Given the description of an element on the screen output the (x, y) to click on. 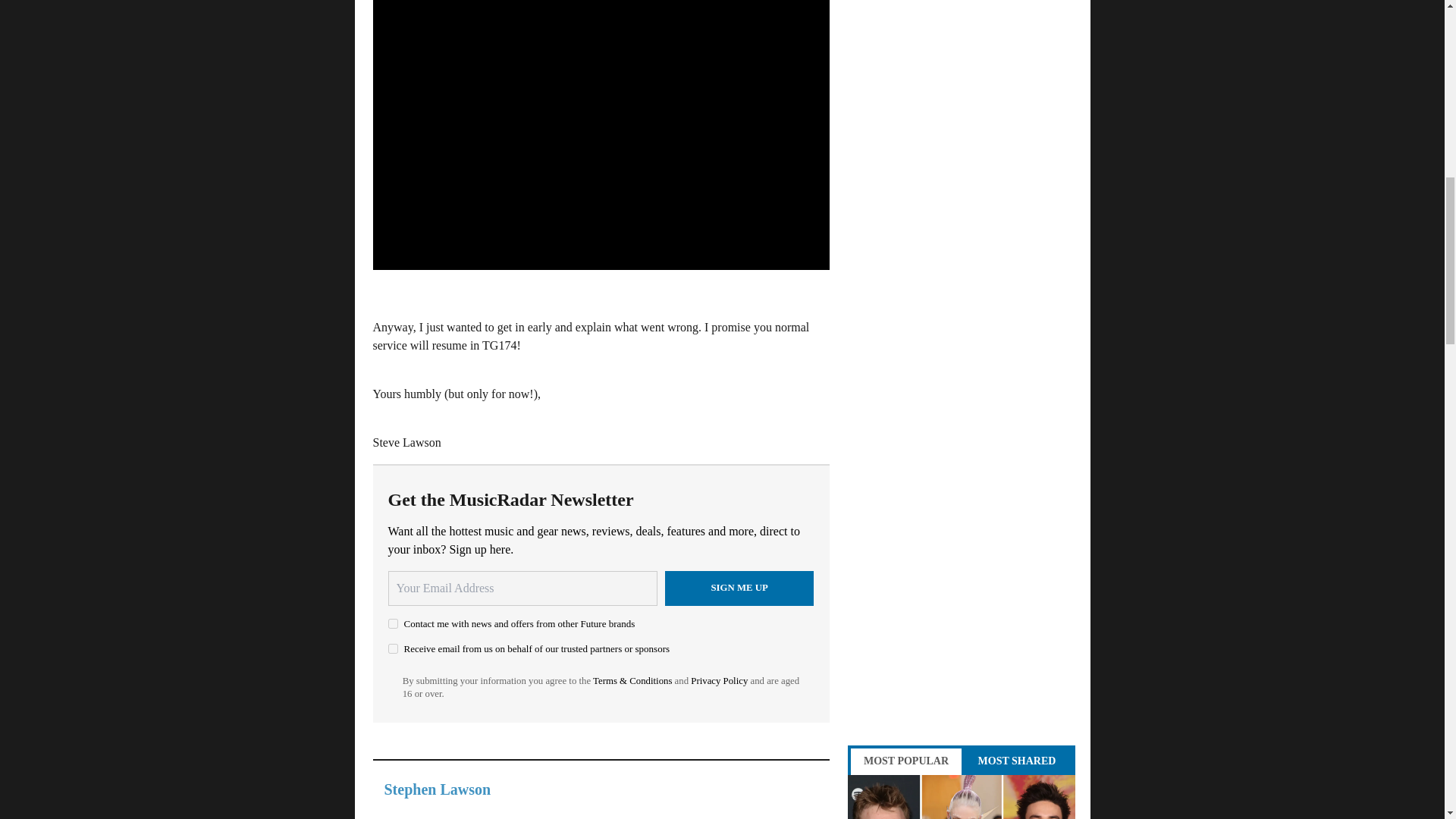
Sign me up (739, 588)
Which audio interfaces do the pros use? (961, 796)
on (392, 648)
on (392, 623)
